Given the description of an element on the screen output the (x, y) to click on. 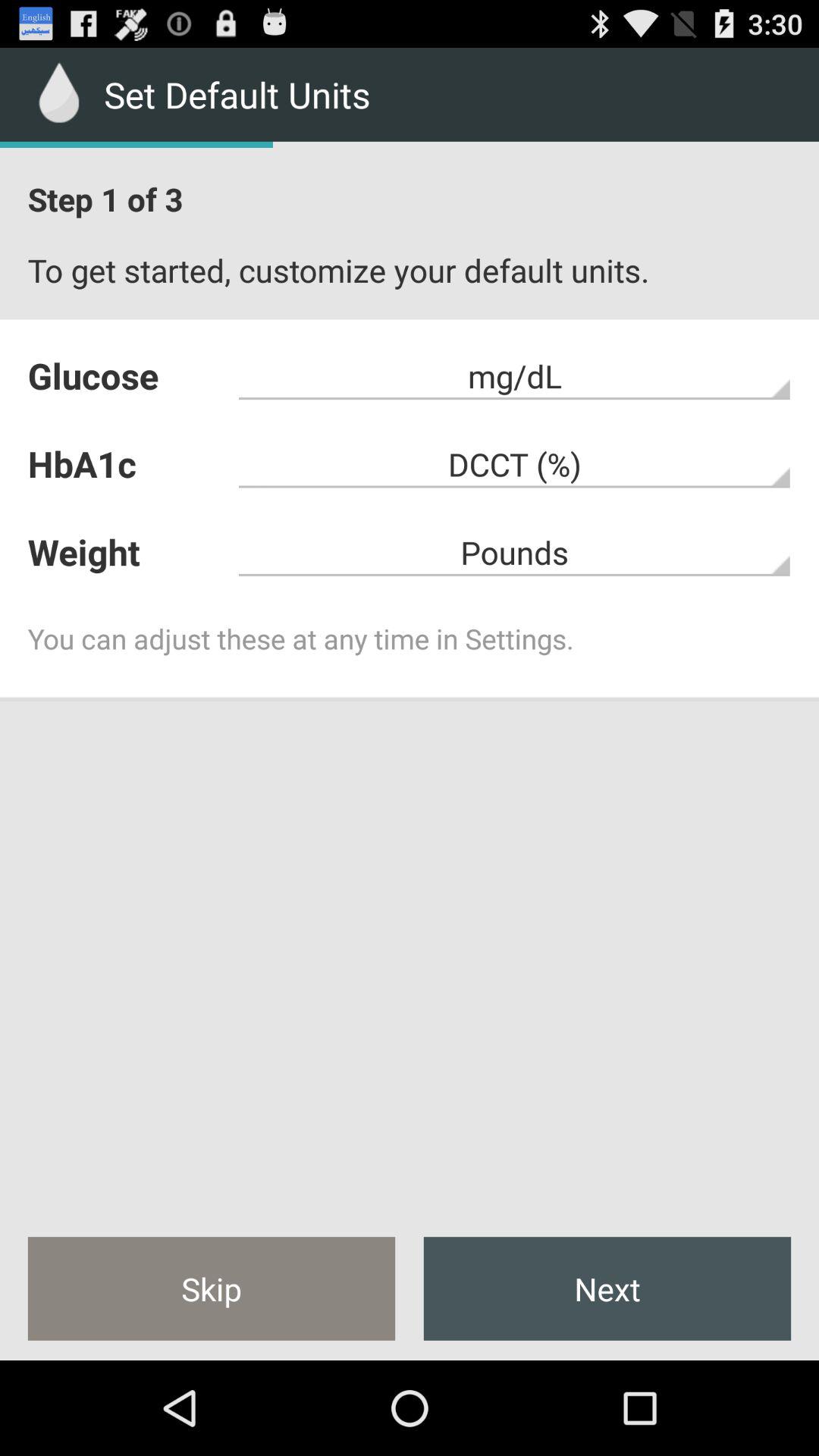
choose the next at the bottom right corner (607, 1288)
